Given the description of an element on the screen output the (x, y) to click on. 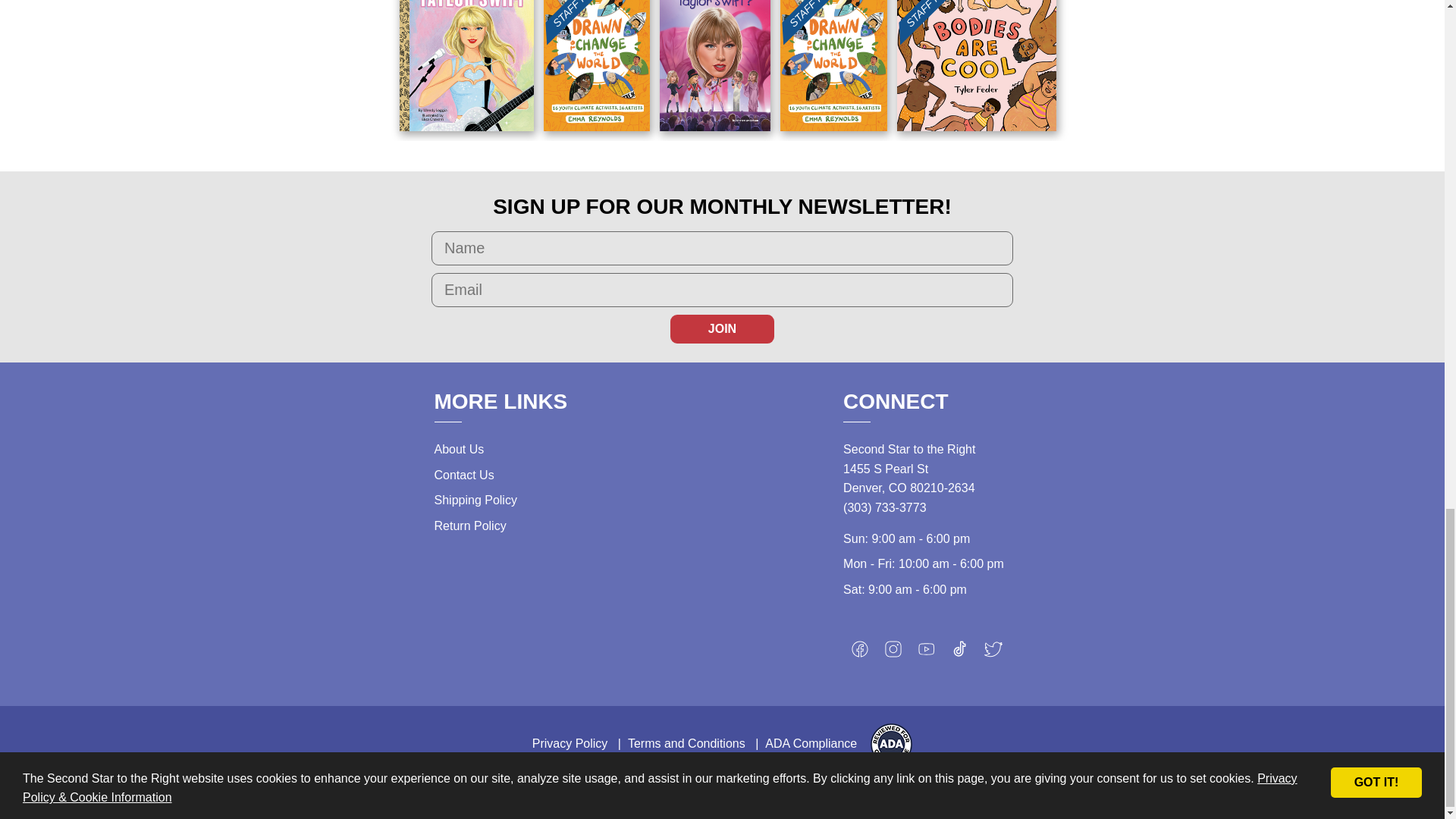
Connect with Youtube Channel (926, 652)
Connect with Instagram (892, 652)
Connect with Twitter (993, 652)
Join (721, 328)
Connect with Facebook (859, 652)
Connect with Tik Tok (959, 652)
